Given the description of an element on the screen output the (x, y) to click on. 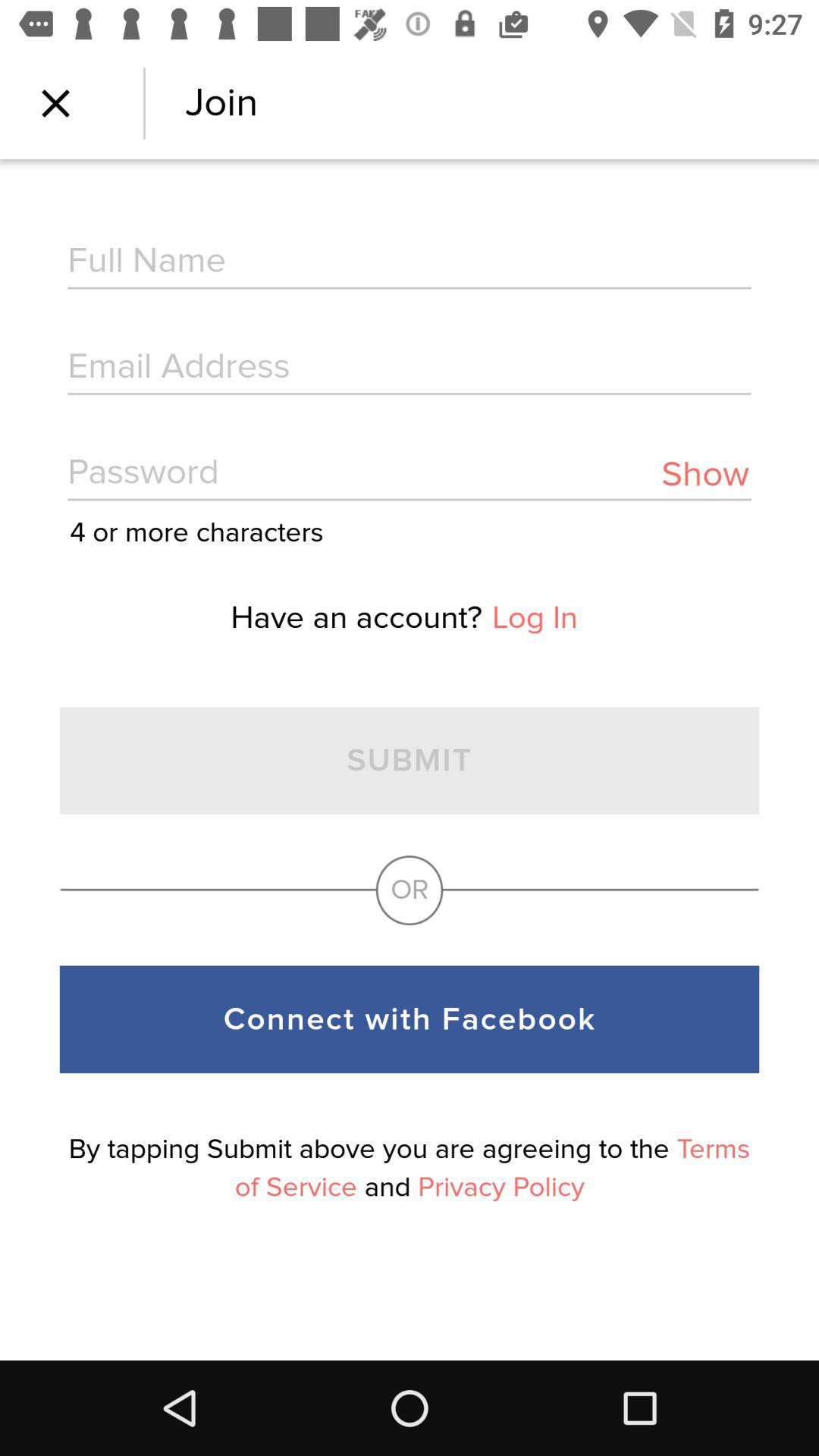
enter password (409, 474)
